Given the description of an element on the screen output the (x, y) to click on. 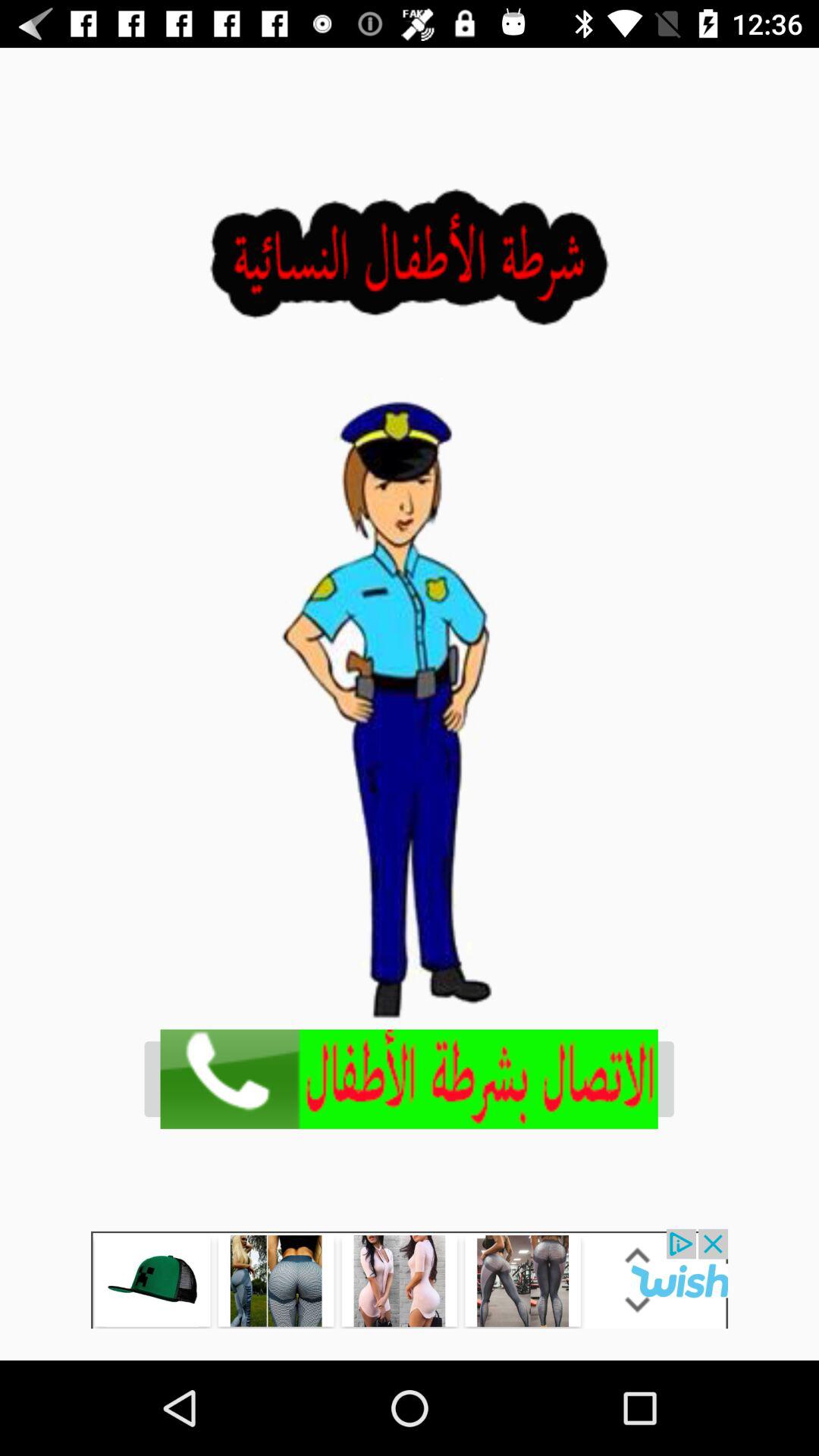
call (408, 1078)
